Given the description of an element on the screen output the (x, y) to click on. 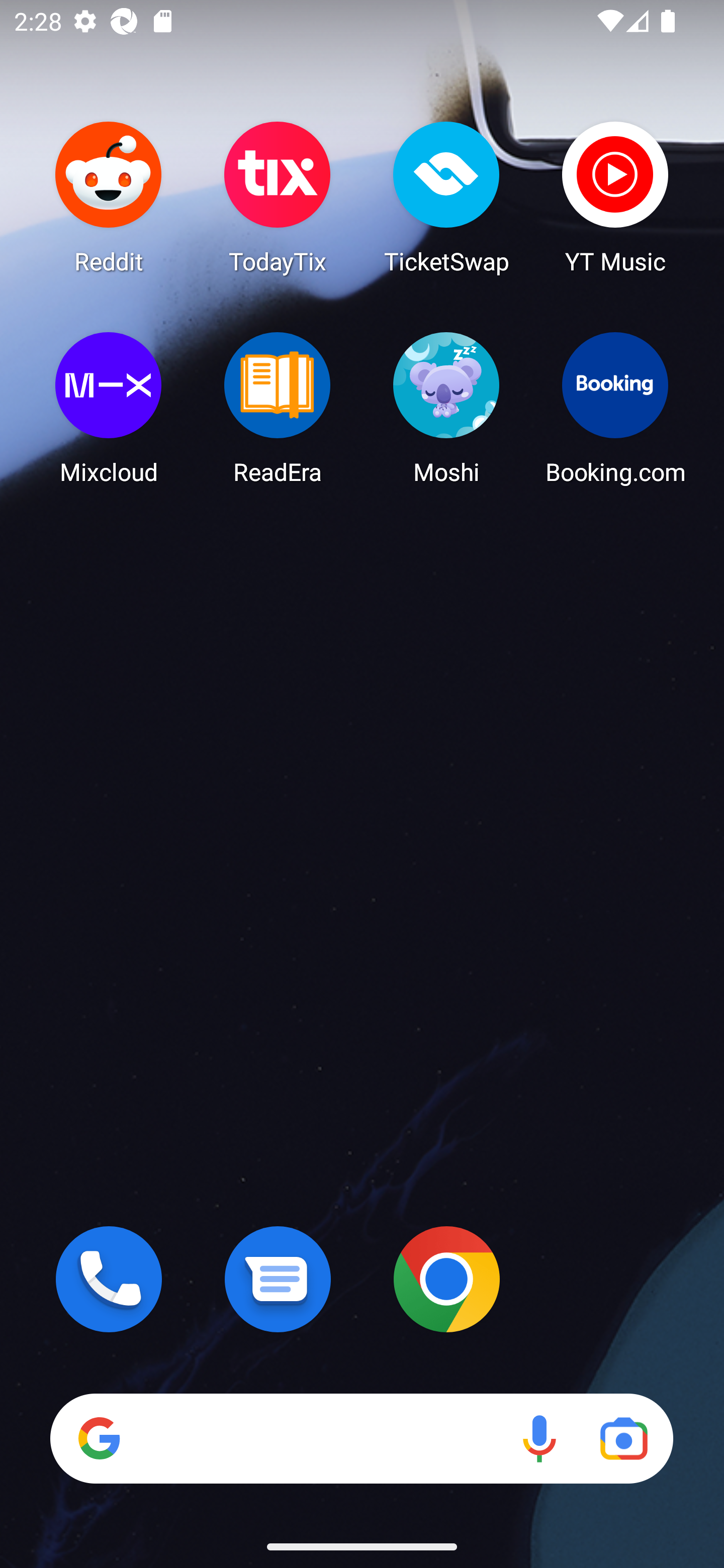
Reddit (108, 196)
TodayTix (277, 196)
TicketSwap (445, 196)
YT Music (615, 196)
Mixcloud (108, 407)
ReadEra (277, 407)
Moshi (445, 407)
Booking.com (615, 407)
Phone (108, 1279)
Messages (277, 1279)
Chrome (446, 1279)
Search Voice search Google Lens (361, 1438)
Voice search (539, 1438)
Google Lens (623, 1438)
